Given the description of an element on the screen output the (x, y) to click on. 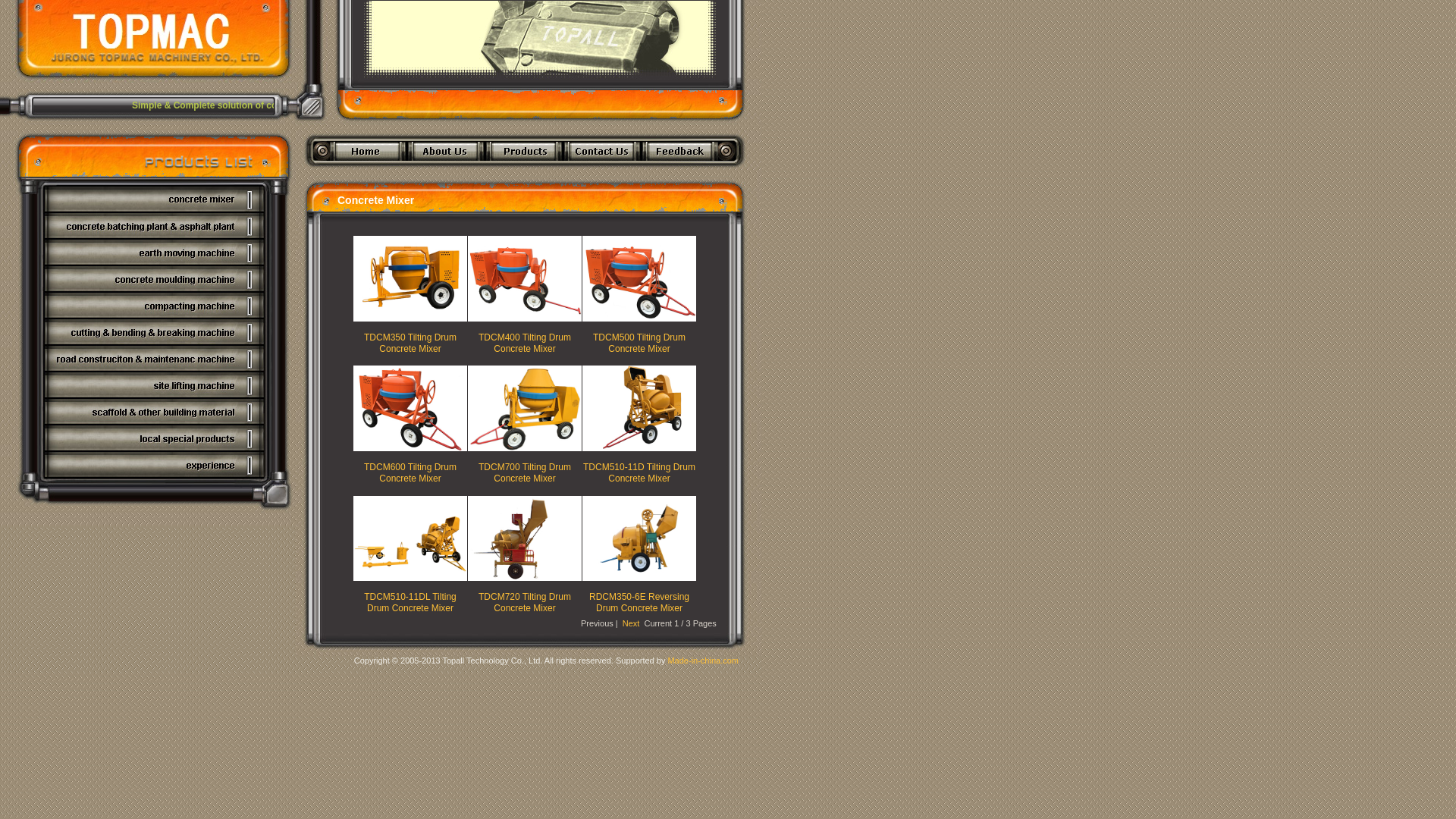
cheap ralph lauren polo shirts Element type: text (777, 174)
TDCM600 Tilting Drum Concrete Mixer Element type: text (410, 472)
TDCM350 Tilting Drum Concrete Mixer Element type: text (410, 342)
ralph lauren polo shirt Element type: text (1081, 174)
cheap ralph lauren polo shirts Element type: text (899, 174)
ralph lauren outlet online Element type: text (420, 174)
Made-in-china.com Element type: text (702, 660)
ralph lauren outlet Element type: text (331, 174)
RDCM350-6E Reversing Drum Concrete Mixer Element type: text (639, 601)
TDCM400 Tilting Drum Concrete Mixer Element type: text (524, 342)
TDCM700 Tilting Drum Concrete Mixer Element type: text (524, 472)
Next Element type: text (631, 622)
polo ralph lauren factory store Element type: text (655, 174)
ralph lauren home Element type: text (998, 174)
ralph lauren polo Element type: text (1161, 174)
TDCM510-11DL Tilting Drum Concrete Mixer Element type: text (410, 601)
TDCM720 Tilting Drum Concrete Mixer Element type: text (524, 601)
TDCM510-11D Tilting Drum Concrete Mixer Element type: text (639, 472)
TDCM500 Tilting Drum Concrete Mixer Element type: text (639, 342)
cheap ralph lauren polo shirts Element type: text (532, 174)
